Given the description of an element on the screen output the (x, y) to click on. 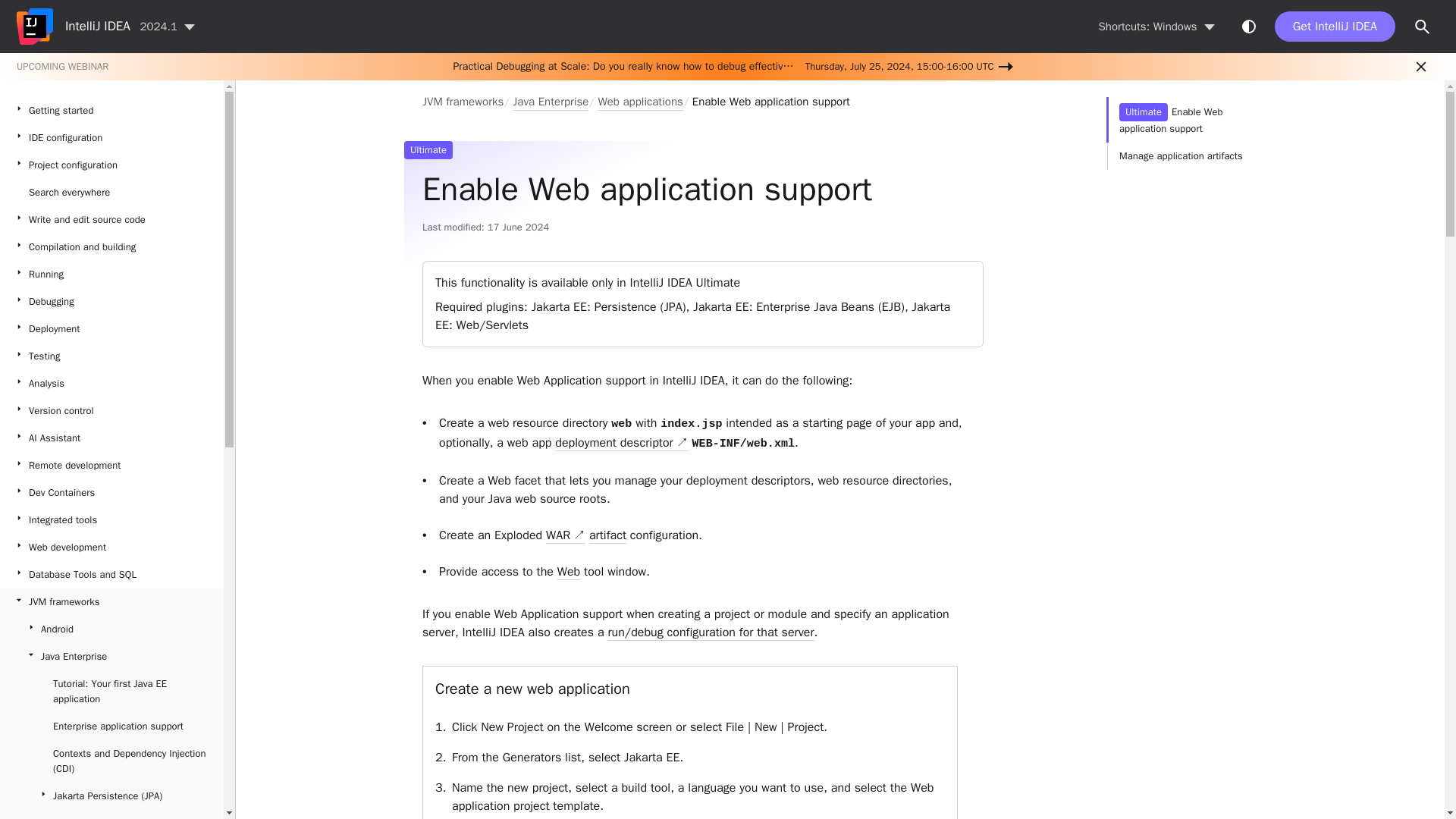
Deployment (112, 329)
IDE configuration (112, 137)
Getting started (112, 110)
Write and edit source code (112, 219)
Testing (112, 356)
Dev Containers (112, 492)
Project configuration (112, 165)
Compilation and building (112, 247)
Close (1420, 66)
Running (112, 274)
Database Tools and SQL (112, 574)
Switch theme (1248, 26)
AI Assistant (112, 438)
Search everywhere (112, 192)
